Given the description of an element on the screen output the (x, y) to click on. 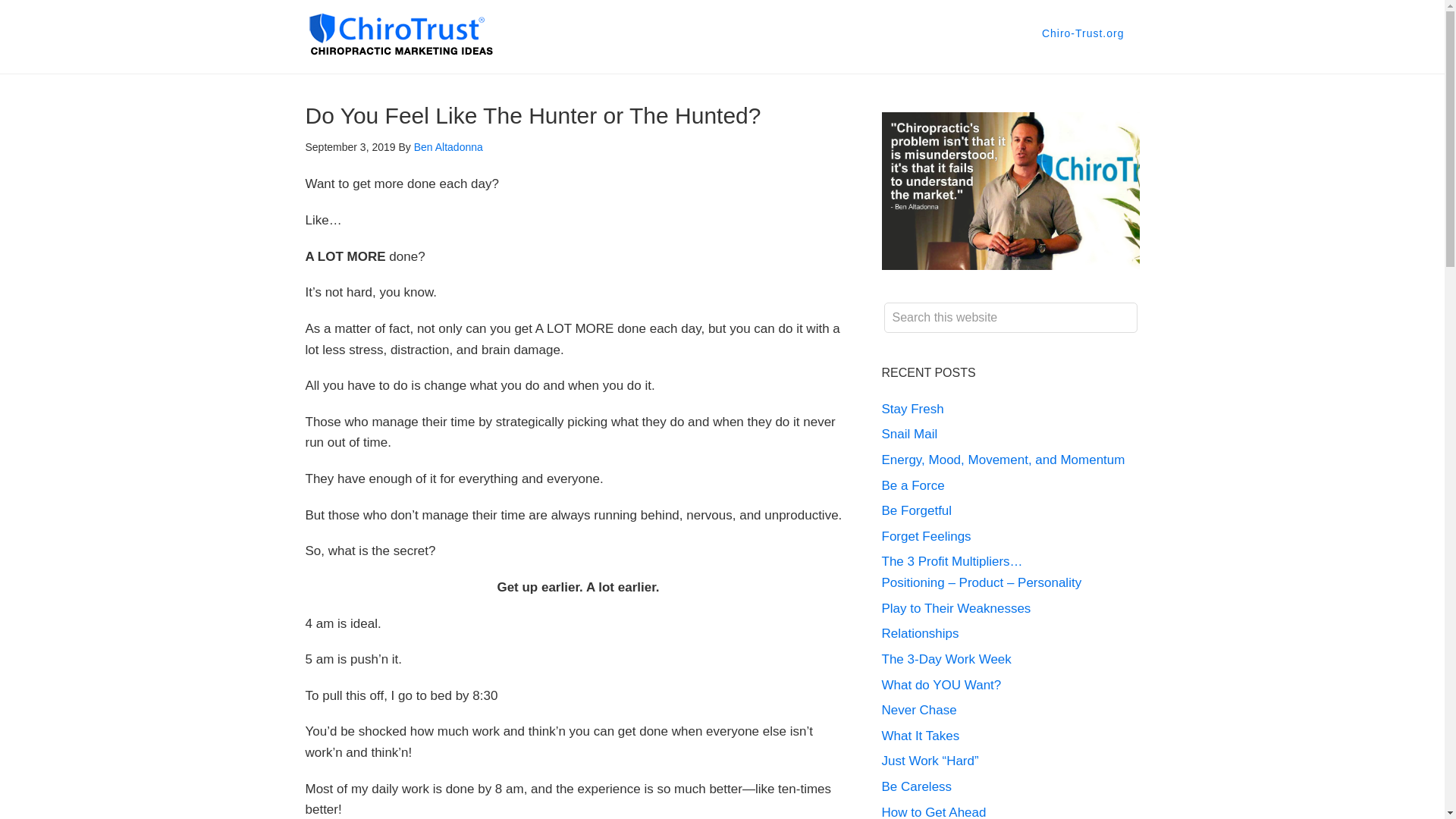
Be Careless (916, 786)
Chiro-Trust.org (1083, 33)
Ben Altadonna (448, 146)
How to Get Ahead (932, 812)
What It Takes (919, 735)
Play to Their Weaknesses (955, 608)
Stay Fresh (911, 409)
Snail Mail (908, 433)
